Given the description of an element on the screen output the (x, y) to click on. 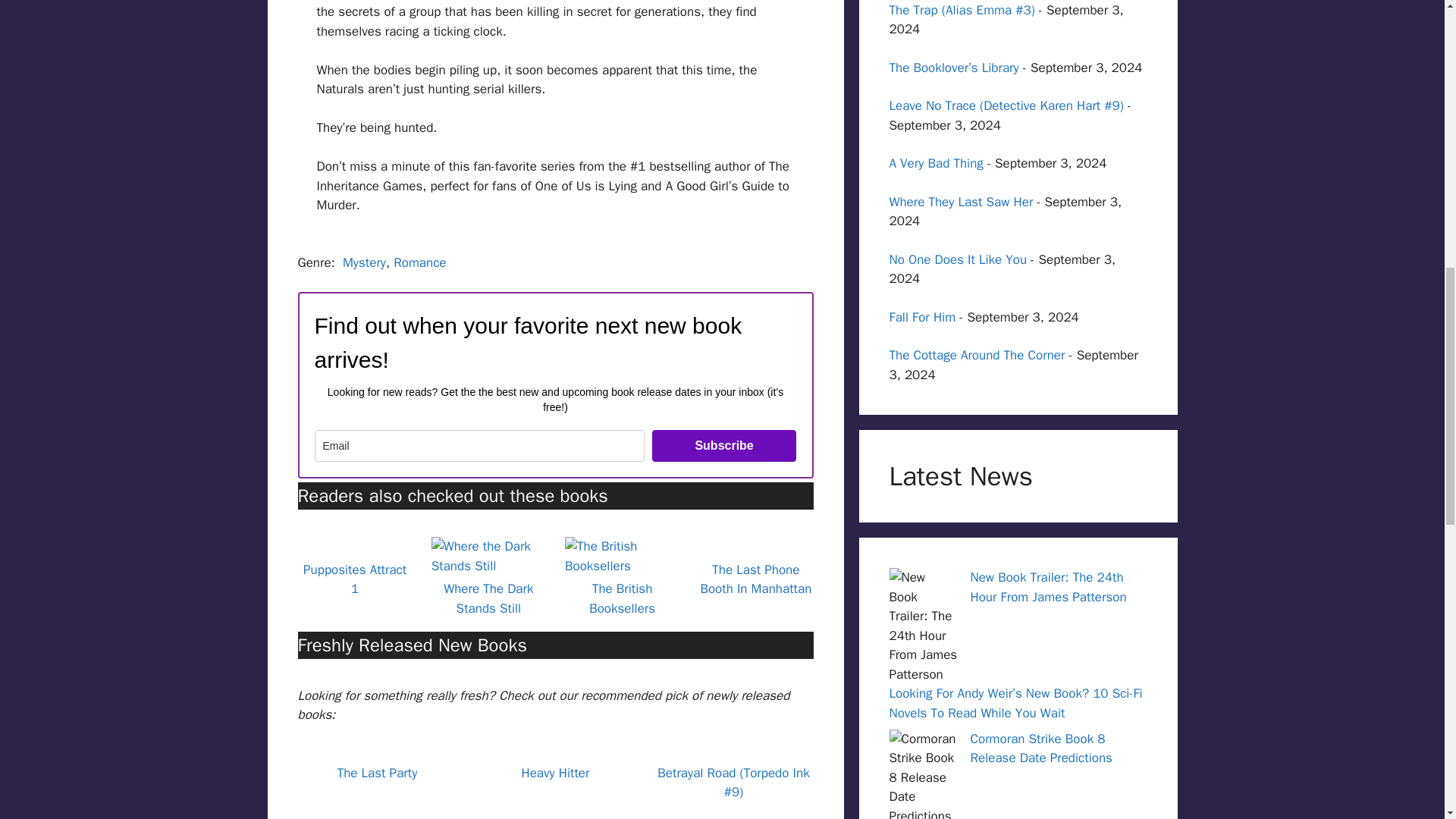
Scroll back to top (1406, 720)
Subscribe (724, 445)
The British Booksellers (622, 598)
Romance (419, 262)
Mystery (363, 262)
The Last Party (377, 772)
The Last Phone Booth In Manhattan (755, 579)
Where The Dark Stands Still (488, 598)
Pupposites Attract 1 (354, 579)
